Given the description of an element on the screen output the (x, y) to click on. 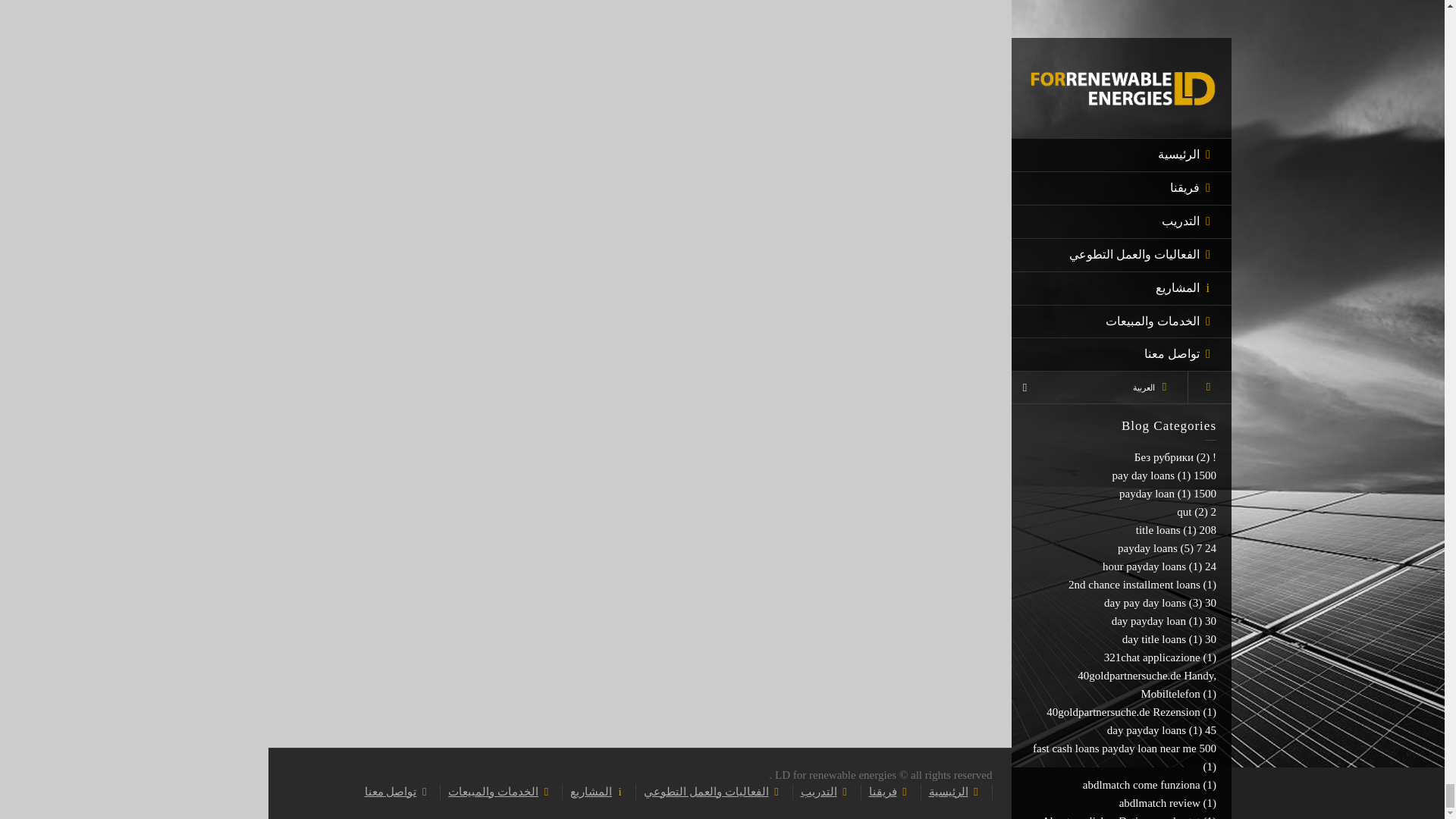
YouTube (1206, 621)
Facebook (1164, 621)
Twitter (1143, 621)
